Given the description of an element on the screen output the (x, y) to click on. 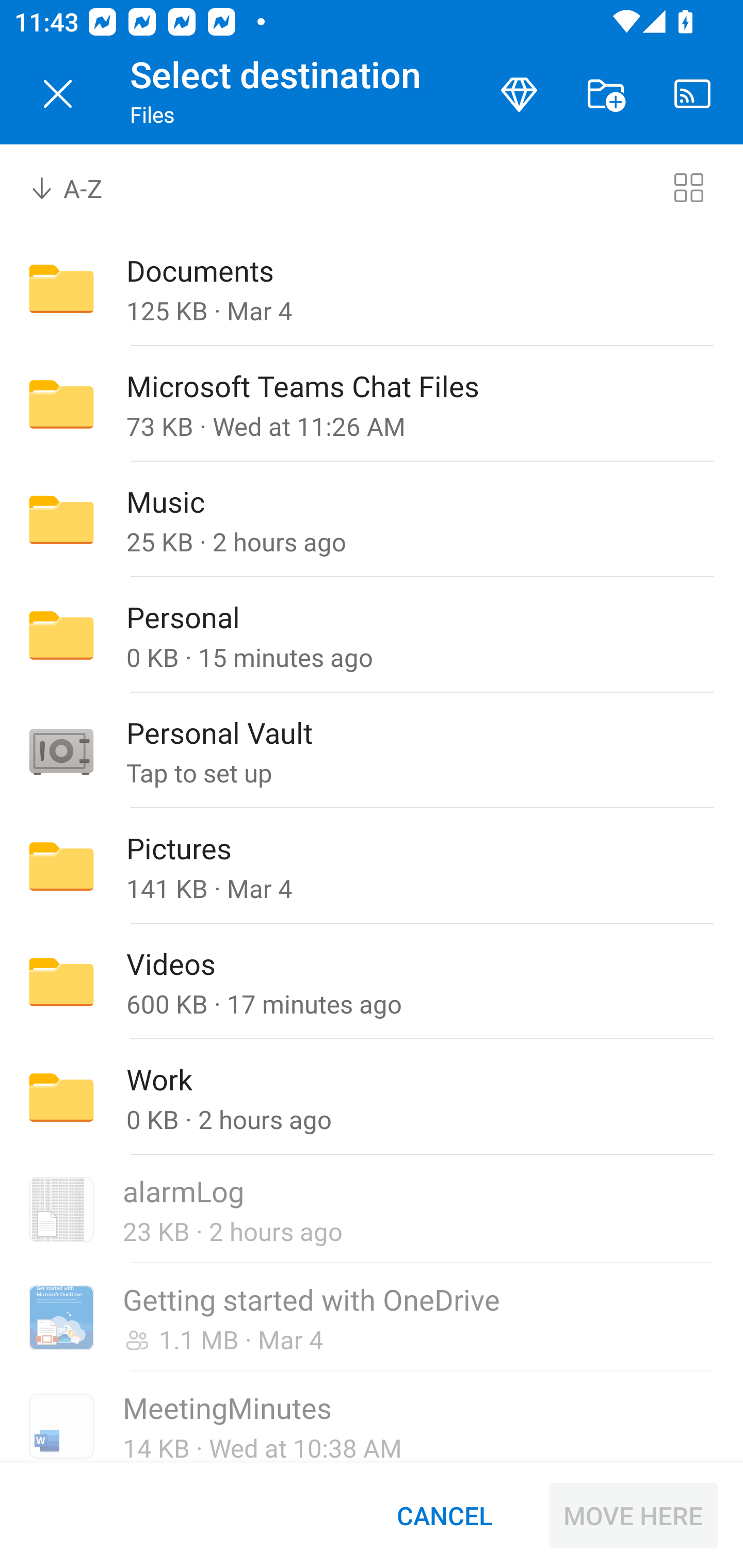
Close (57, 93)
Cast. Disconnected (692, 93)
Premium button (518, 93)
More actions button (605, 93)
A-Z Sort by combo box, sort by name, A to Z (80, 187)
Switch to tiles view (688, 187)
Folder Documents 125 KB · Mar 4 (371, 288)
Folder Music 25 KB · 2 hours ago (371, 519)
Folder Personal 0 KB · 15 minutes ago (371, 635)
Folder Personal Vault Tap to set up (371, 751)
Folder Pictures 141 KB · Mar 4 (371, 866)
Folder Videos 600 KB · 17 minutes ago (371, 981)
Folder Work 0 KB · 2 hours ago (371, 1097)
Document alarmLog 23 KB · 2 hours ago (371, 1209)
CANCEL (443, 1515)
MOVE HERE (633, 1515)
